Given the description of an element on the screen output the (x, y) to click on. 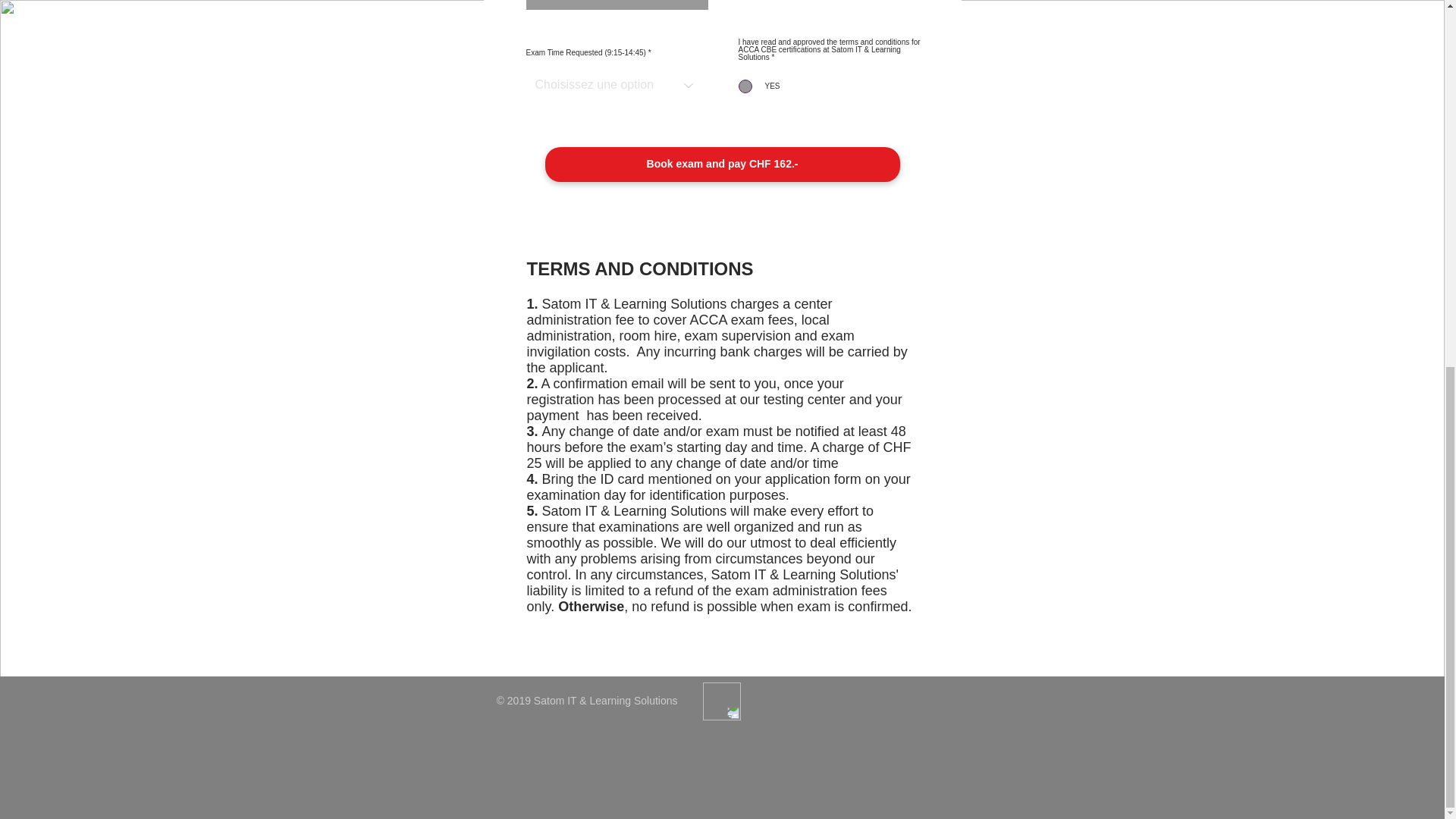
Book exam and pay CHF 162.- (721, 164)
